Given the description of an element on the screen output the (x, y) to click on. 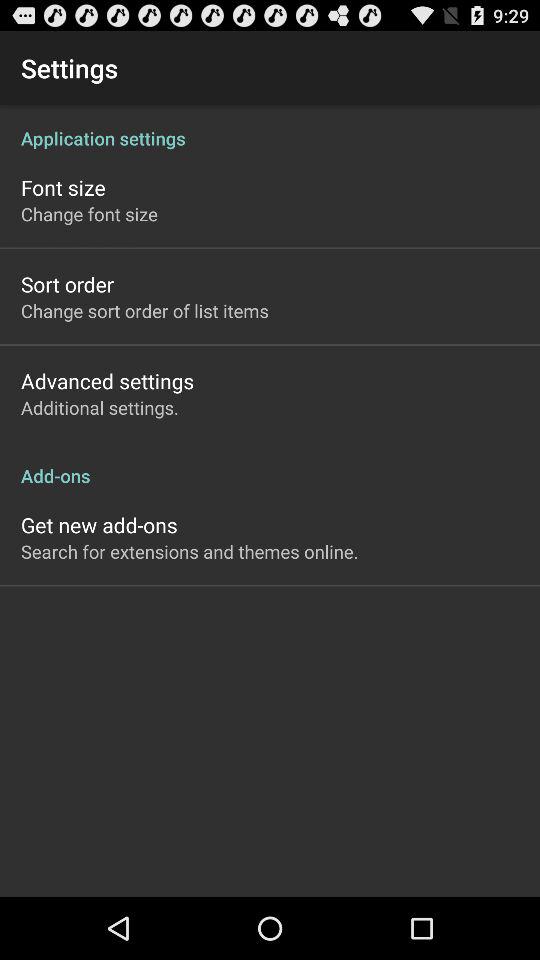
select item above the add-ons icon (99, 407)
